Given the description of an element on the screen output the (x, y) to click on. 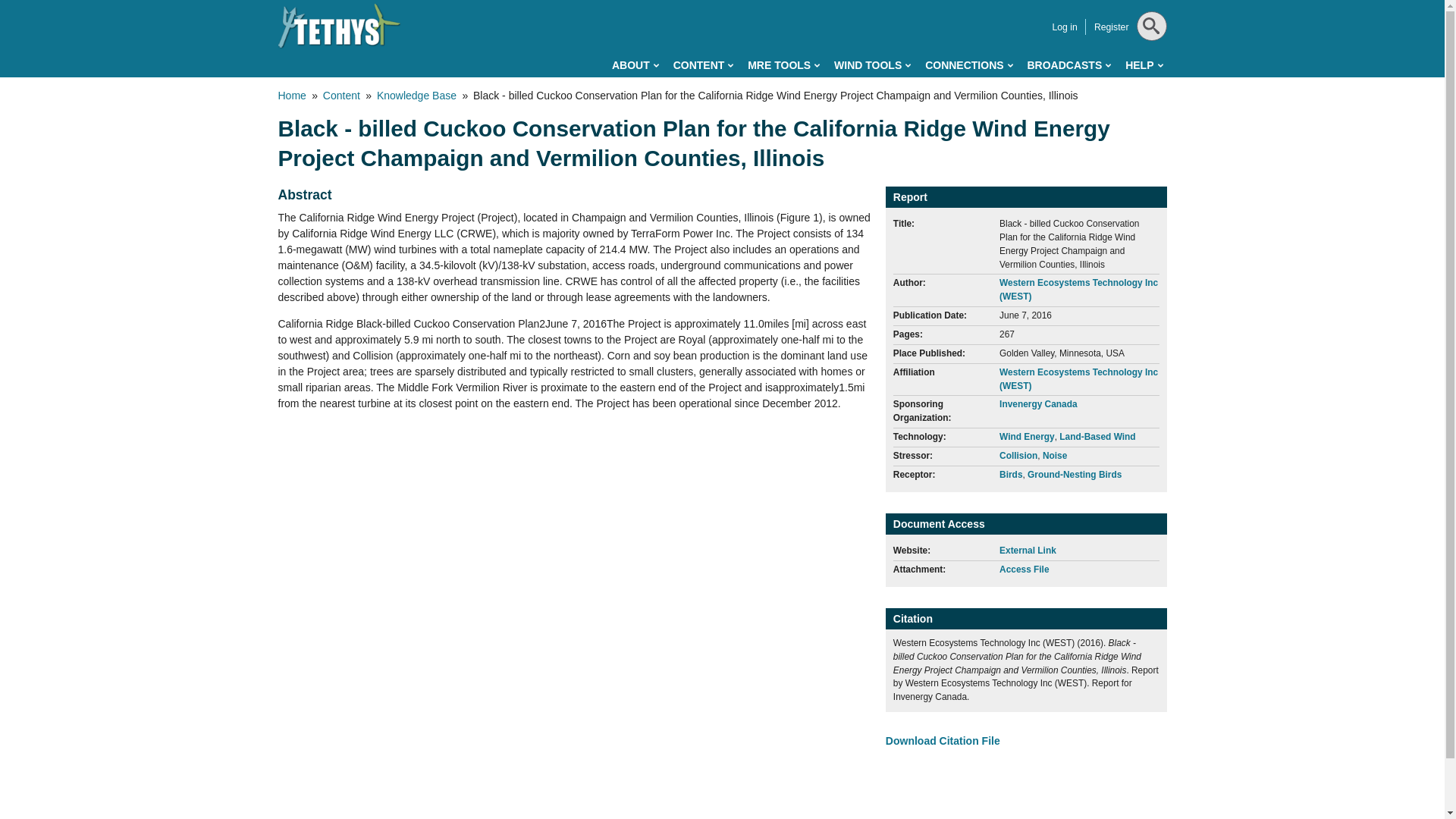
WIND TOOLS (872, 65)
Search (1148, 64)
ABOUT (635, 65)
CONNECTIONS (967, 65)
Home (339, 26)
MRE TOOLS (783, 65)
Skip to main content (654, 3)
HELP (1143, 65)
Register (1111, 27)
Log in (1064, 27)
